Given the description of an element on the screen output the (x, y) to click on. 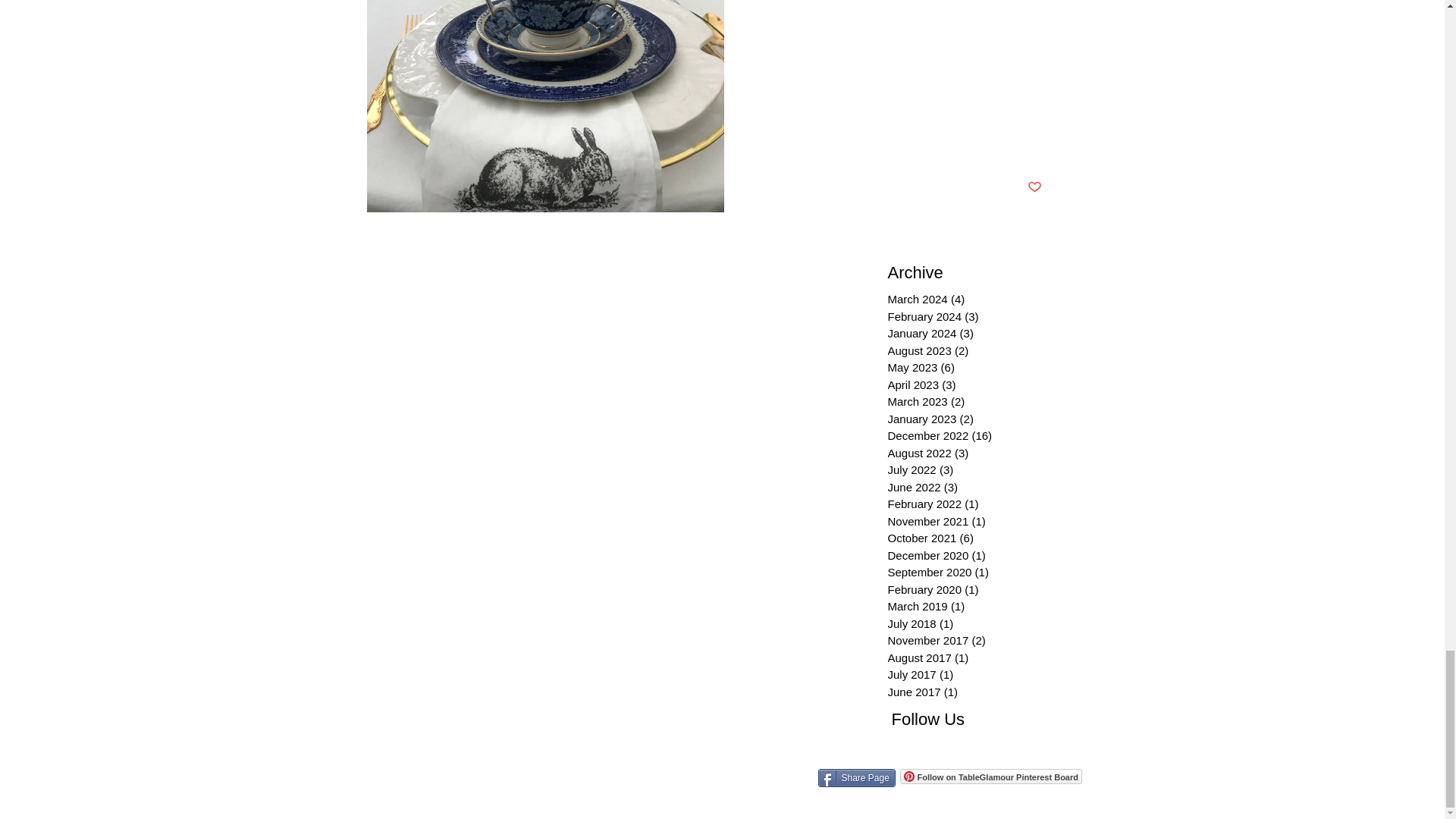
Twitter Follow (974, 749)
Share Page (855, 778)
Follow on TableGlamour Pinterest Board (990, 776)
